Given the description of an element on the screen output the (x, y) to click on. 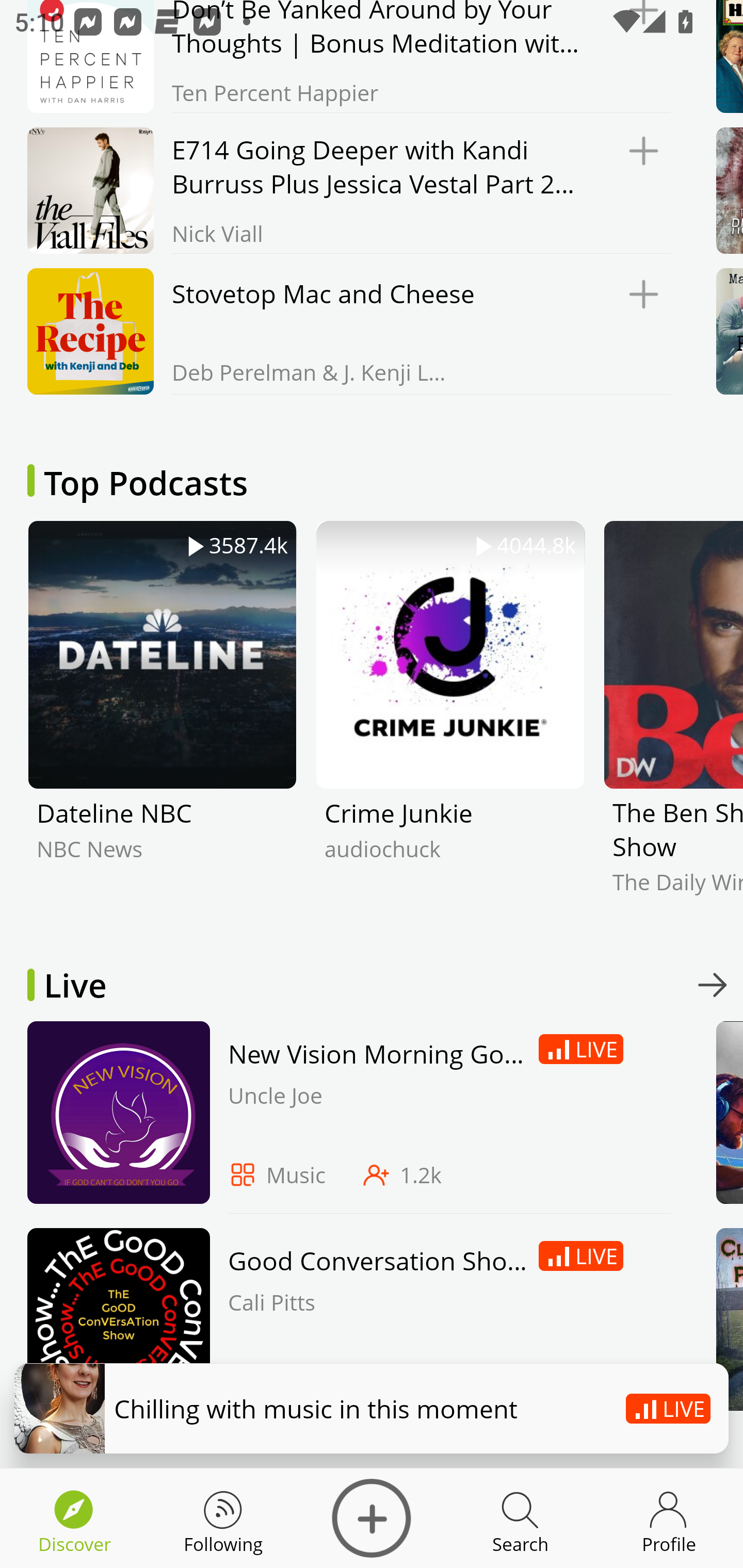
3587.4k Dateline NBC NBC News (162, 722)
4044.8k Crime Junkie audiochuck (450, 722)
The Ben Shapiro Show The Daily Wire (673, 722)
Good Conversation Show. LIVE Cali Pitts Music 4.0k (344, 1323)
Podbean Chilling with music in this moment LIVE (371, 1407)
Discover Following (222, 1518)
Discover (371, 1518)
Discover Search (519, 1518)
Discover Profile (668, 1518)
